Given the description of an element on the screen output the (x, y) to click on. 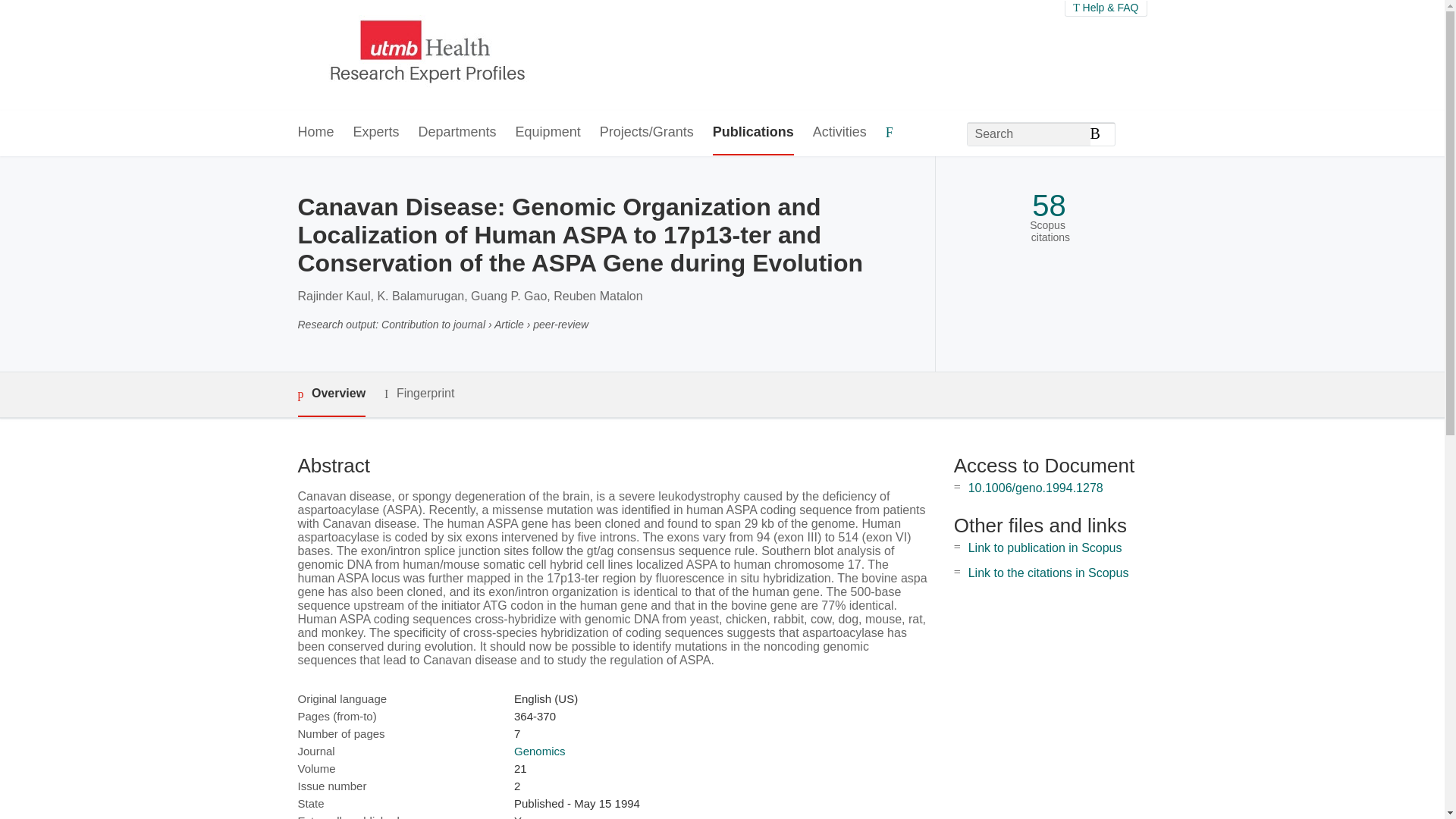
58 (1048, 205)
Genomics (539, 750)
Publications (753, 132)
UTMB Health Research Expert Profiles Home (424, 55)
Link to publication in Scopus (1045, 547)
Link to the citations in Scopus (1048, 572)
Activities (839, 132)
Overview (331, 394)
Departments (457, 132)
Experts (375, 132)
Fingerprint (419, 393)
Equipment (547, 132)
